Given the description of an element on the screen output the (x, y) to click on. 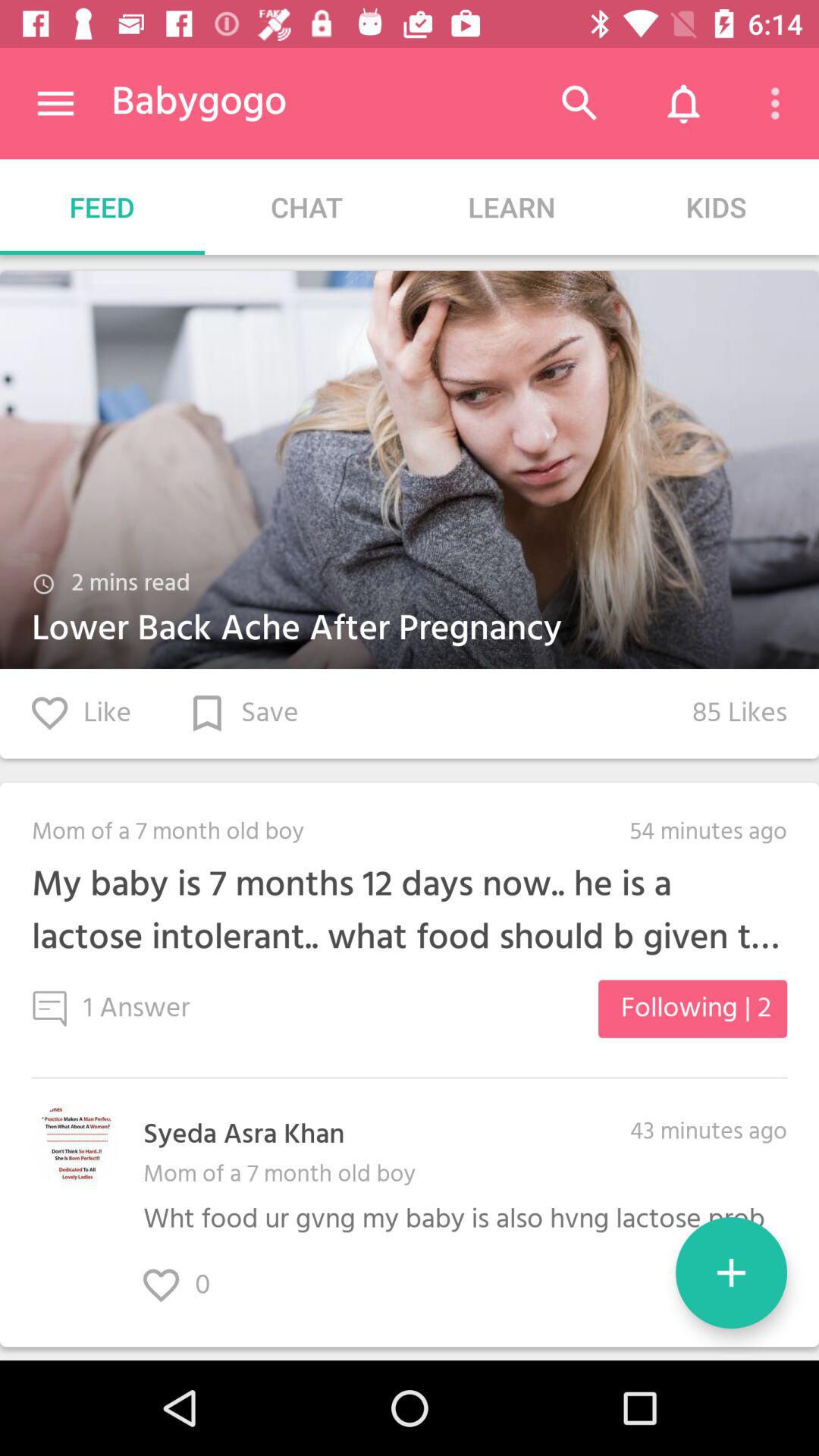
press the item next to syeda asra khan icon (75, 1145)
